Given the description of an element on the screen output the (x, y) to click on. 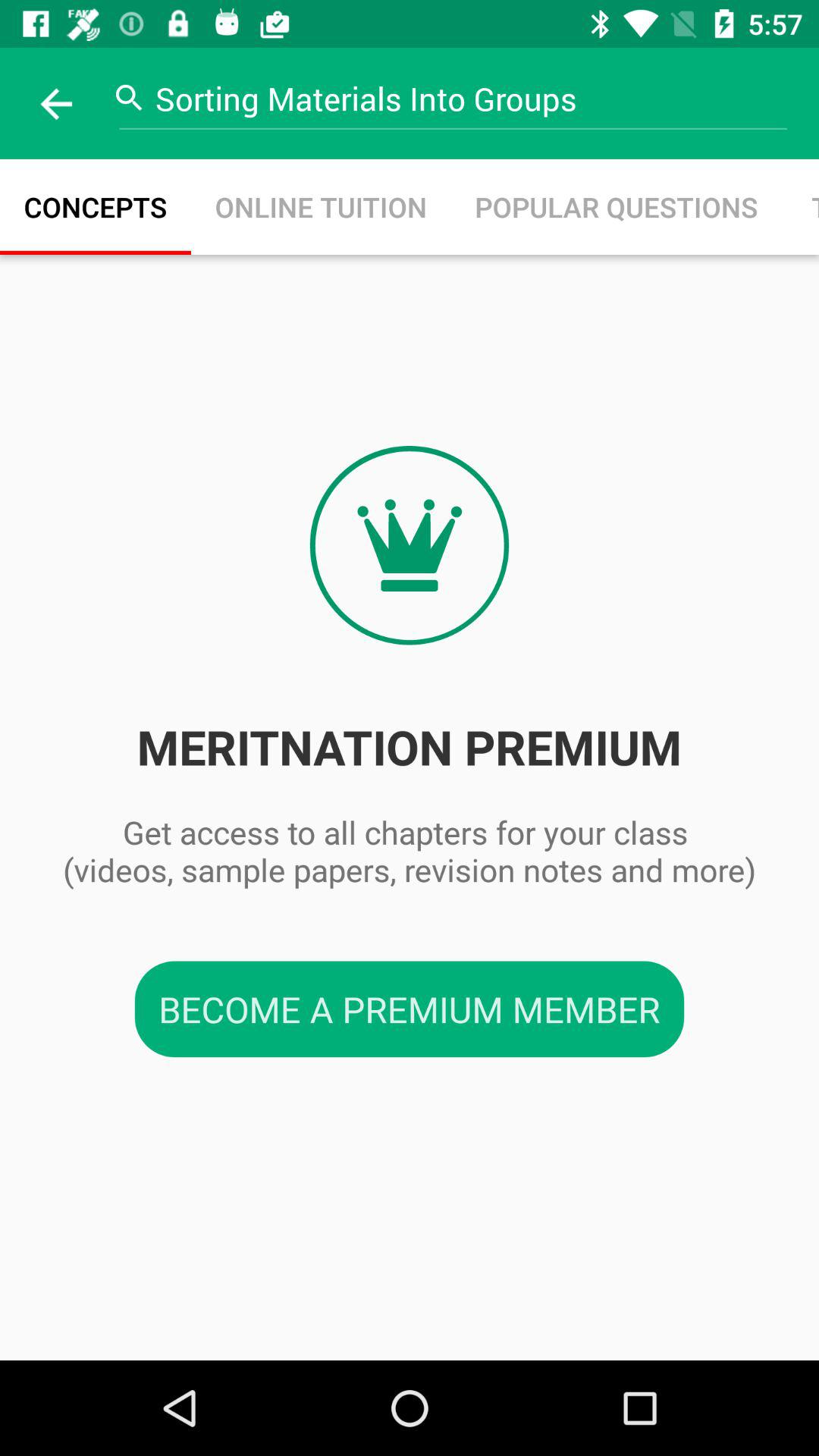
click item to the left of sorting materials into item (55, 103)
